Given the description of an element on the screen output the (x, y) to click on. 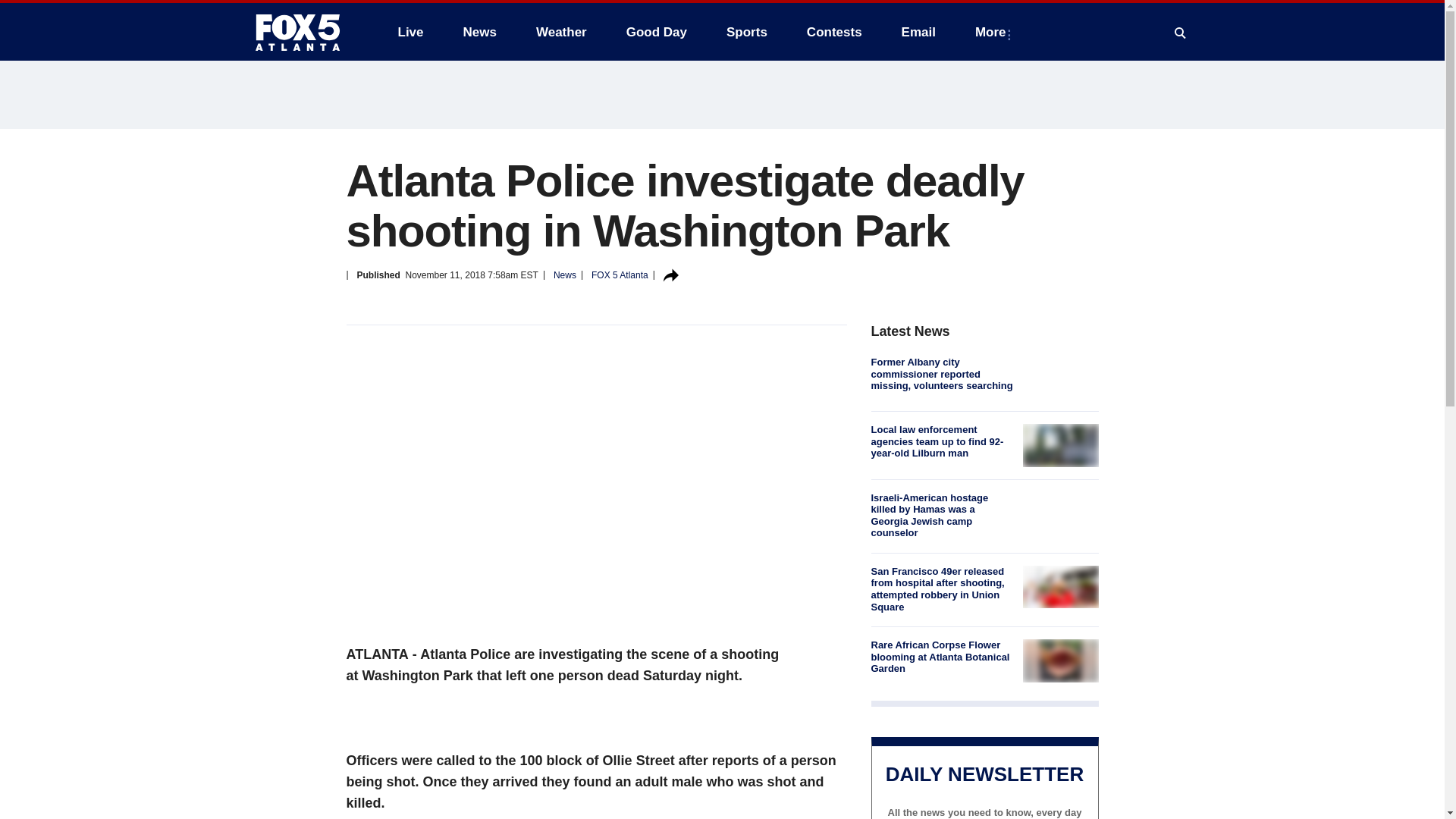
Email (918, 32)
Contests (834, 32)
Good Day (656, 32)
Live (410, 32)
News (479, 32)
Weather (561, 32)
More (993, 32)
Sports (746, 32)
